Given the description of an element on the screen output the (x, y) to click on. 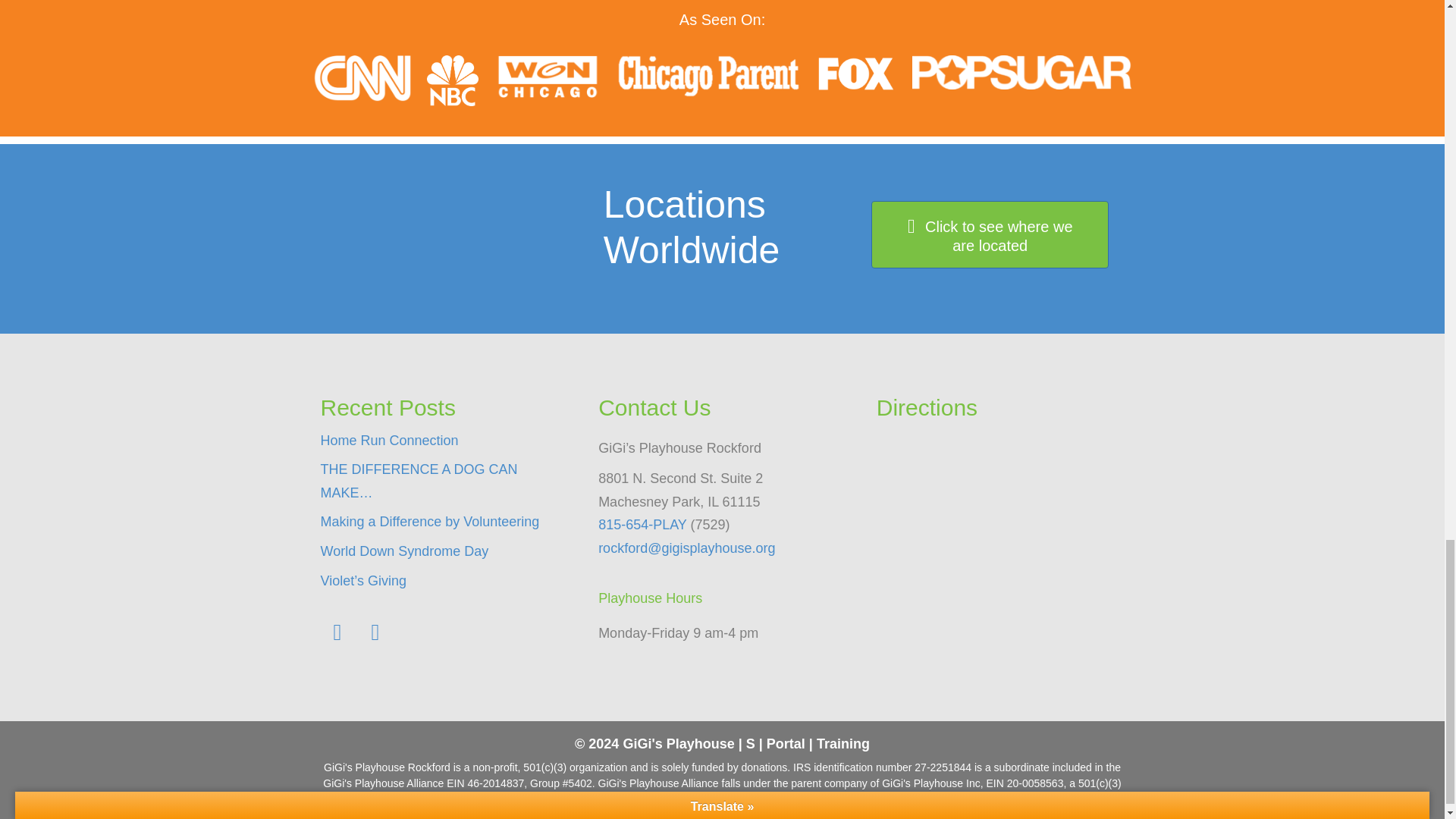
Instagram (374, 632)
chi-parent--200h (708, 76)
cnn-logo-200h (361, 78)
Facebook (336, 632)
fox-200h (855, 73)
popsugar-200h (1021, 72)
